Given the description of an element on the screen output the (x, y) to click on. 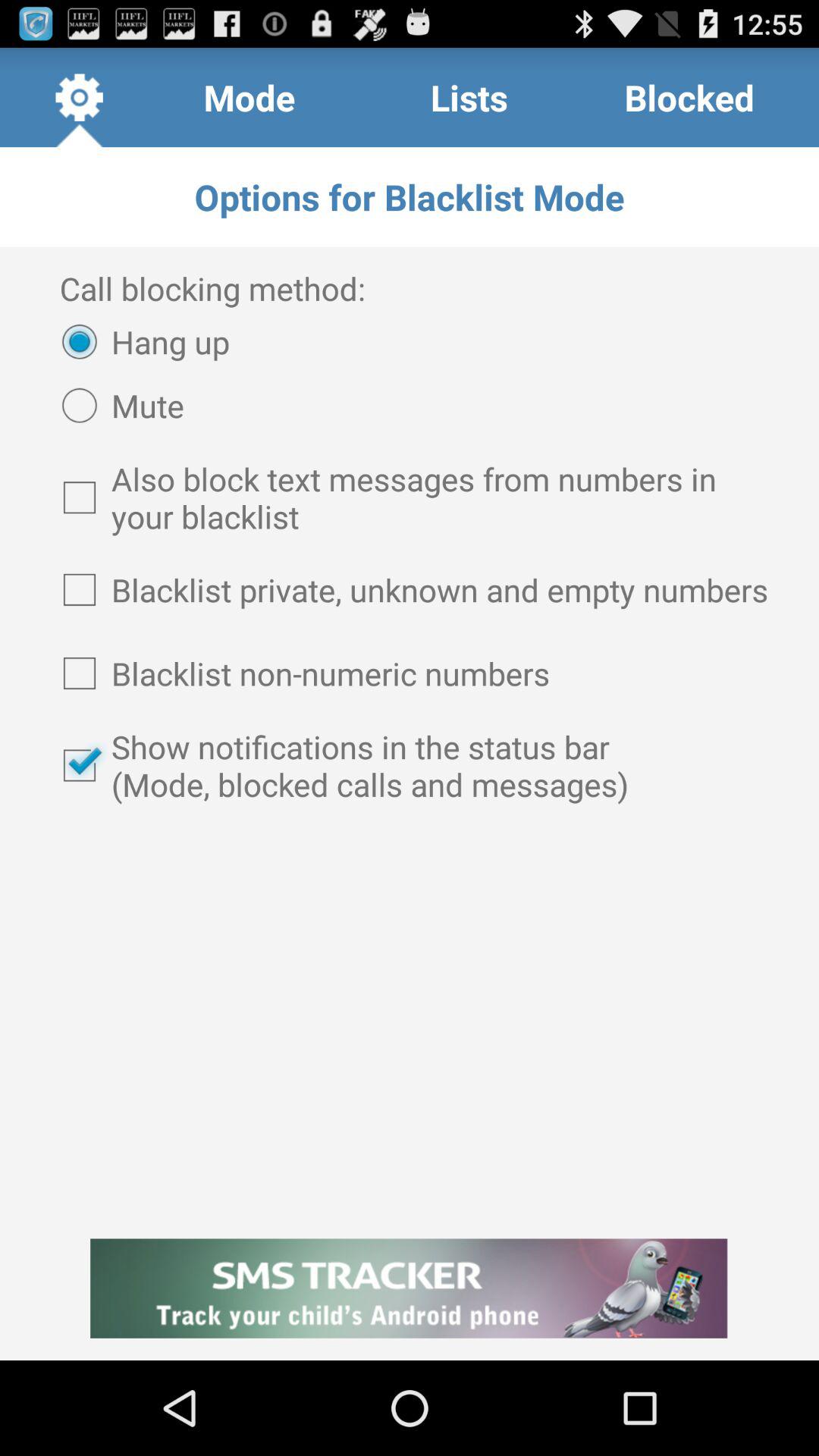
open show notifications in item (409, 765)
